Given the description of an element on the screen output the (x, y) to click on. 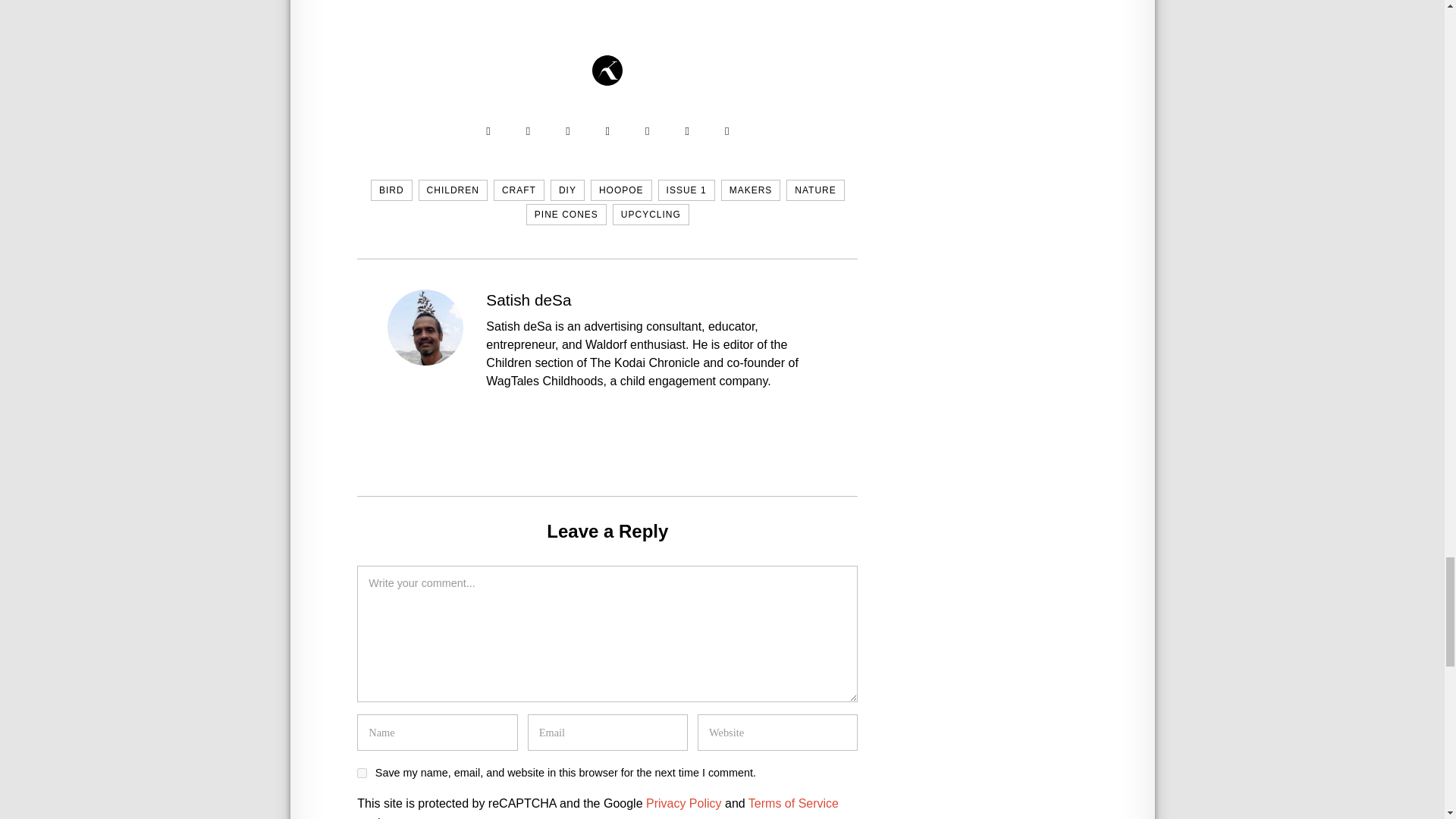
yes (361, 773)
CRAFT (518, 189)
BIRD (391, 189)
DIY (567, 189)
HOOPOE (621, 189)
CHILDREN (453, 189)
